Given the description of an element on the screen output the (x, y) to click on. 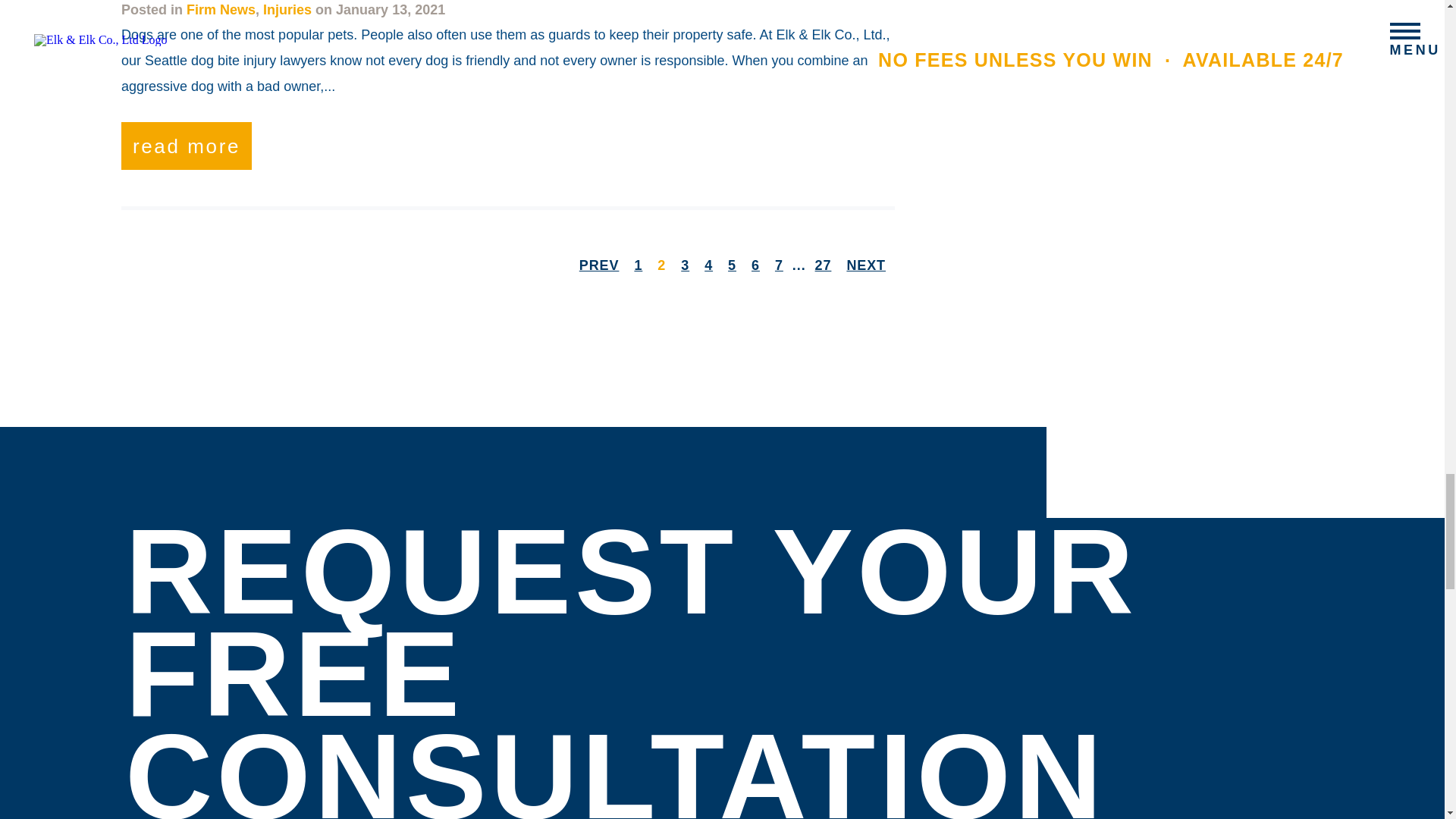
6 (755, 265)
5 (732, 265)
1 (637, 265)
27 (823, 265)
4 (708, 265)
7 (778, 265)
3 (685, 265)
